Given the description of an element on the screen output the (x, y) to click on. 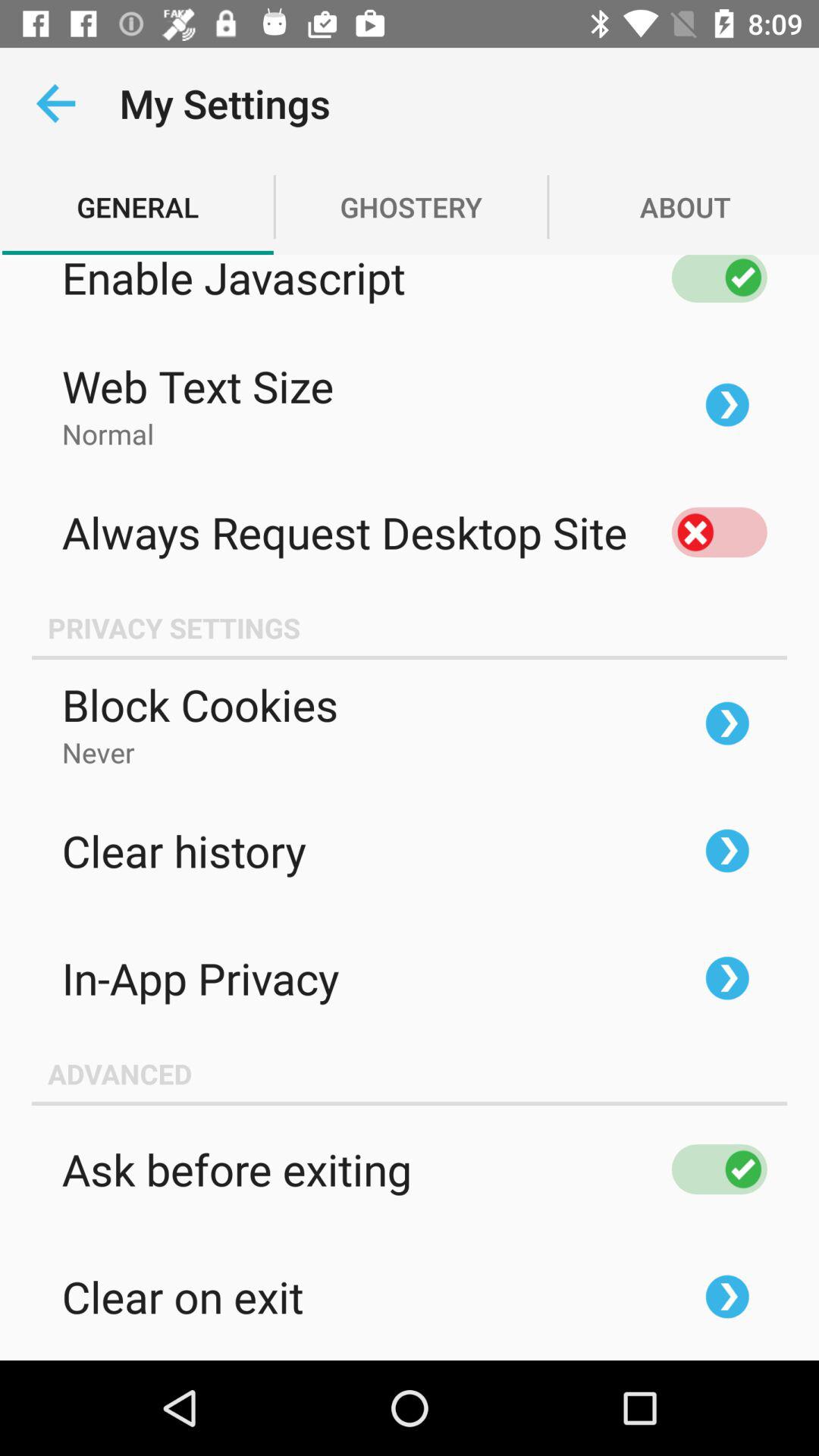
select item above the general (55, 103)
